Given the description of an element on the screen output the (x, y) to click on. 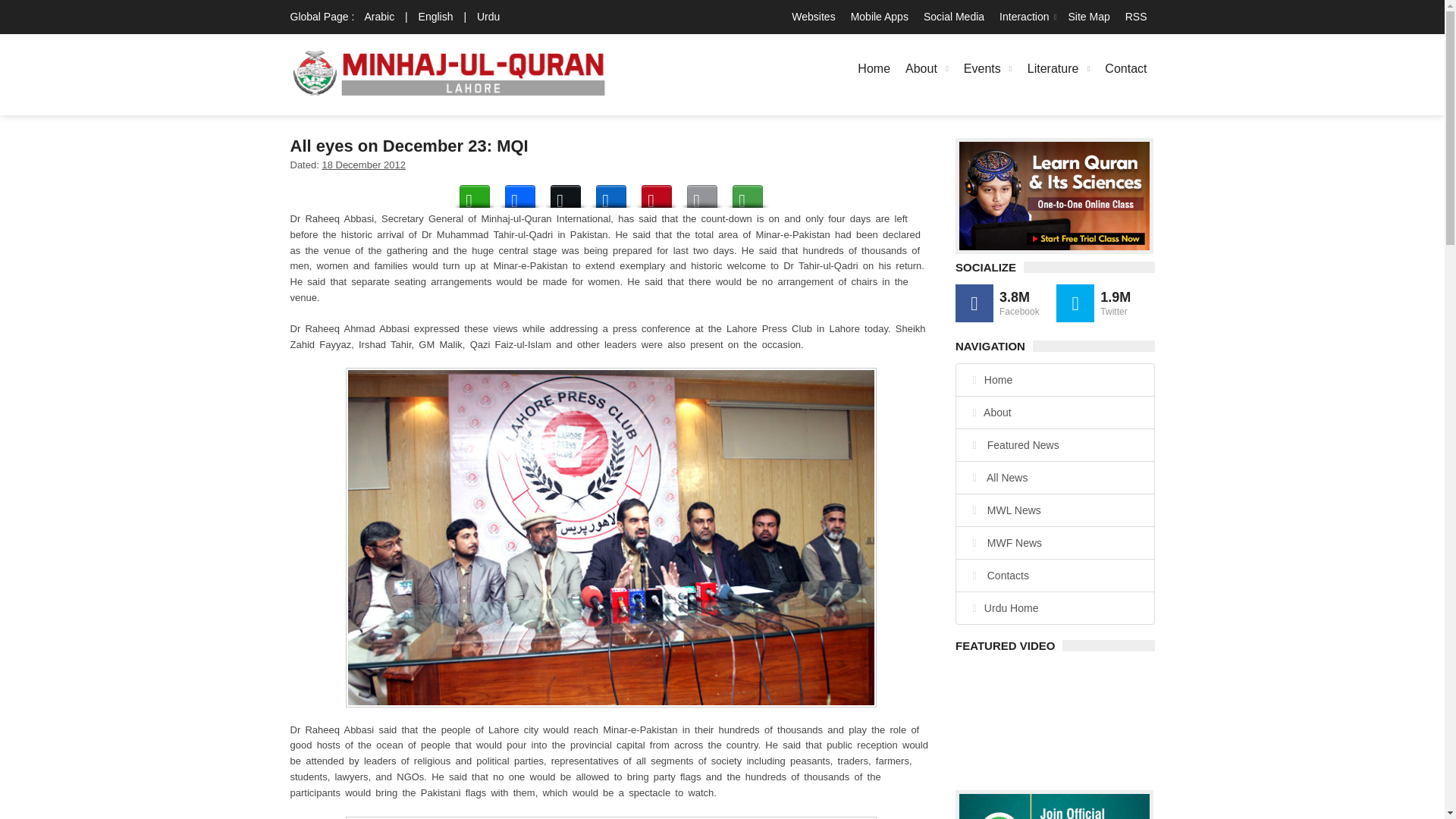
Arabic Version (379, 16)
About (927, 68)
Websites (813, 17)
Urdu (488, 16)
RSS (1136, 17)
Websites (813, 17)
Mobile Apps (879, 17)
Home (874, 68)
Site Map (1087, 17)
Interaction (1025, 17)
English (435, 16)
Arabic (379, 16)
Site Map (1087, 17)
RSS (1136, 17)
Social Media (953, 17)
